Given the description of an element on the screen output the (x, y) to click on. 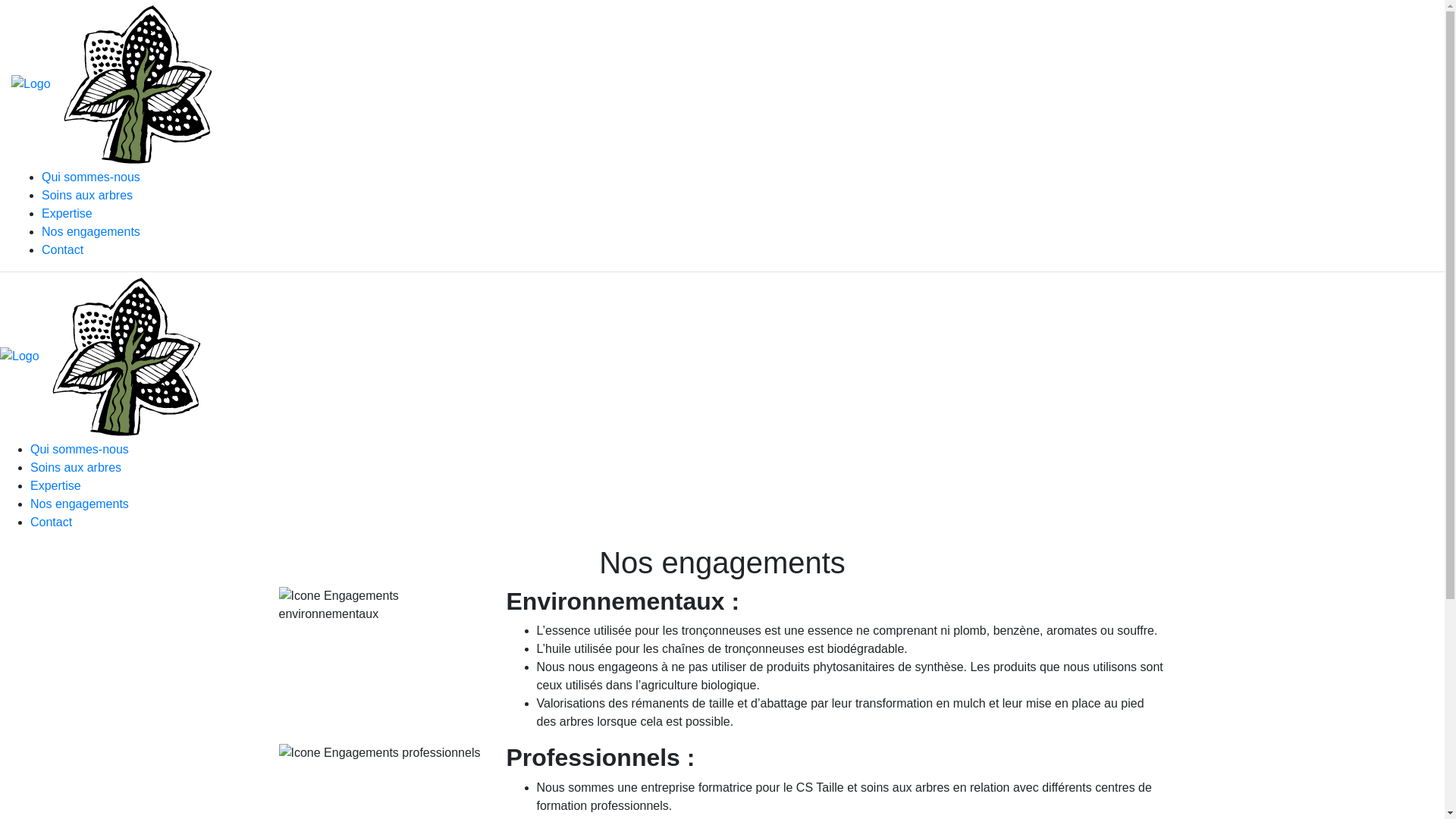
Qui sommes-nous Element type: text (90, 176)
Expertise Element type: text (55, 485)
Nos engagements Element type: text (79, 503)
Soins aux arbres Element type: text (75, 467)
Soins aux arbres Element type: text (86, 194)
Nos engagements Element type: text (90, 231)
Expertise Element type: text (66, 213)
Qui sommes-nous Element type: text (79, 448)
Contact Element type: text (51, 521)
Contact Element type: text (62, 249)
